Given the description of an element on the screen output the (x, y) to click on. 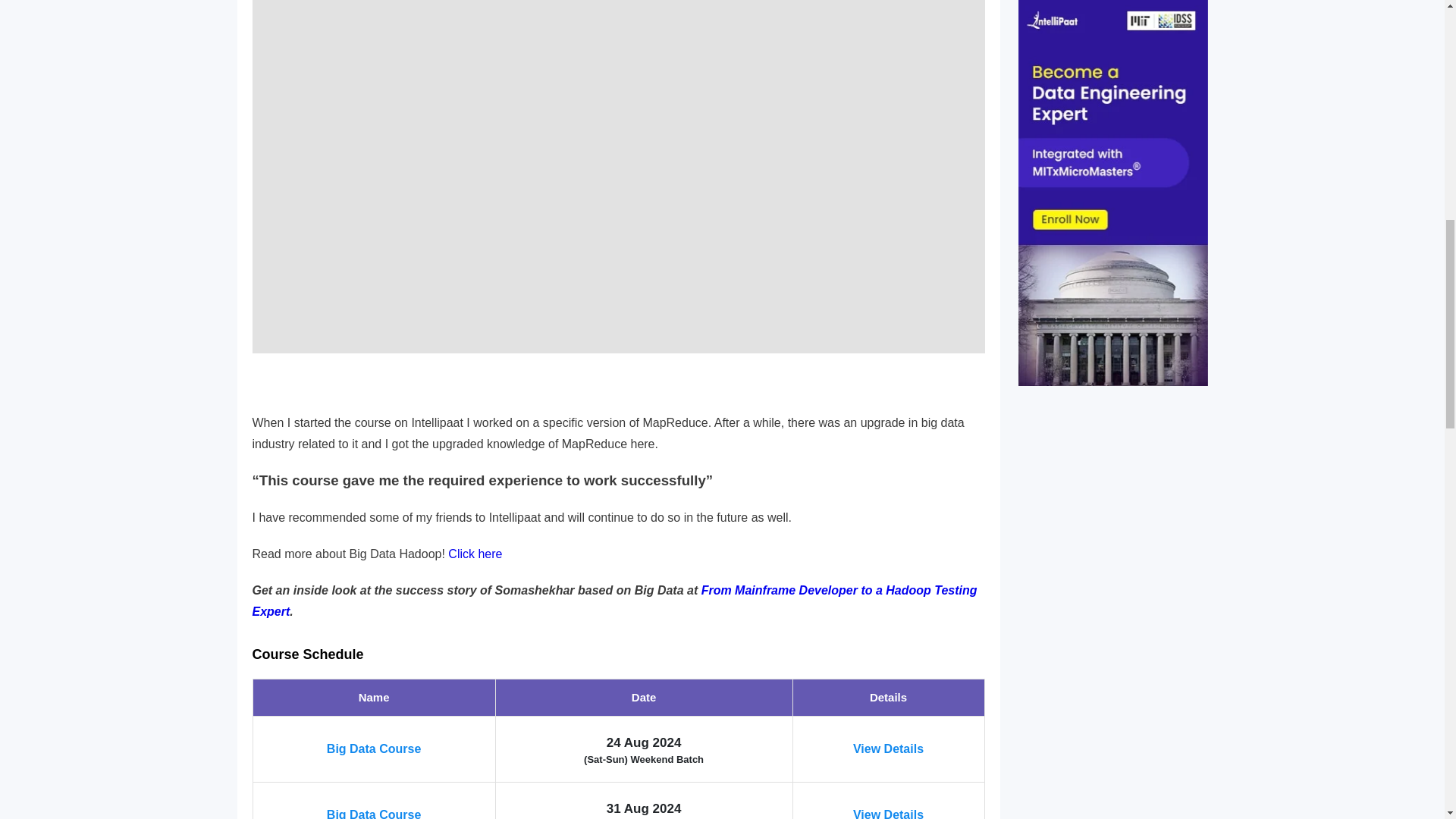
View Details (888, 748)
Click here (475, 553)
Big Data Course (373, 813)
Big Data Course (373, 748)
View Details (888, 813)
From Mainframe Developer to a Hadoop Testing Expert (613, 600)
